Given the description of an element on the screen output the (x, y) to click on. 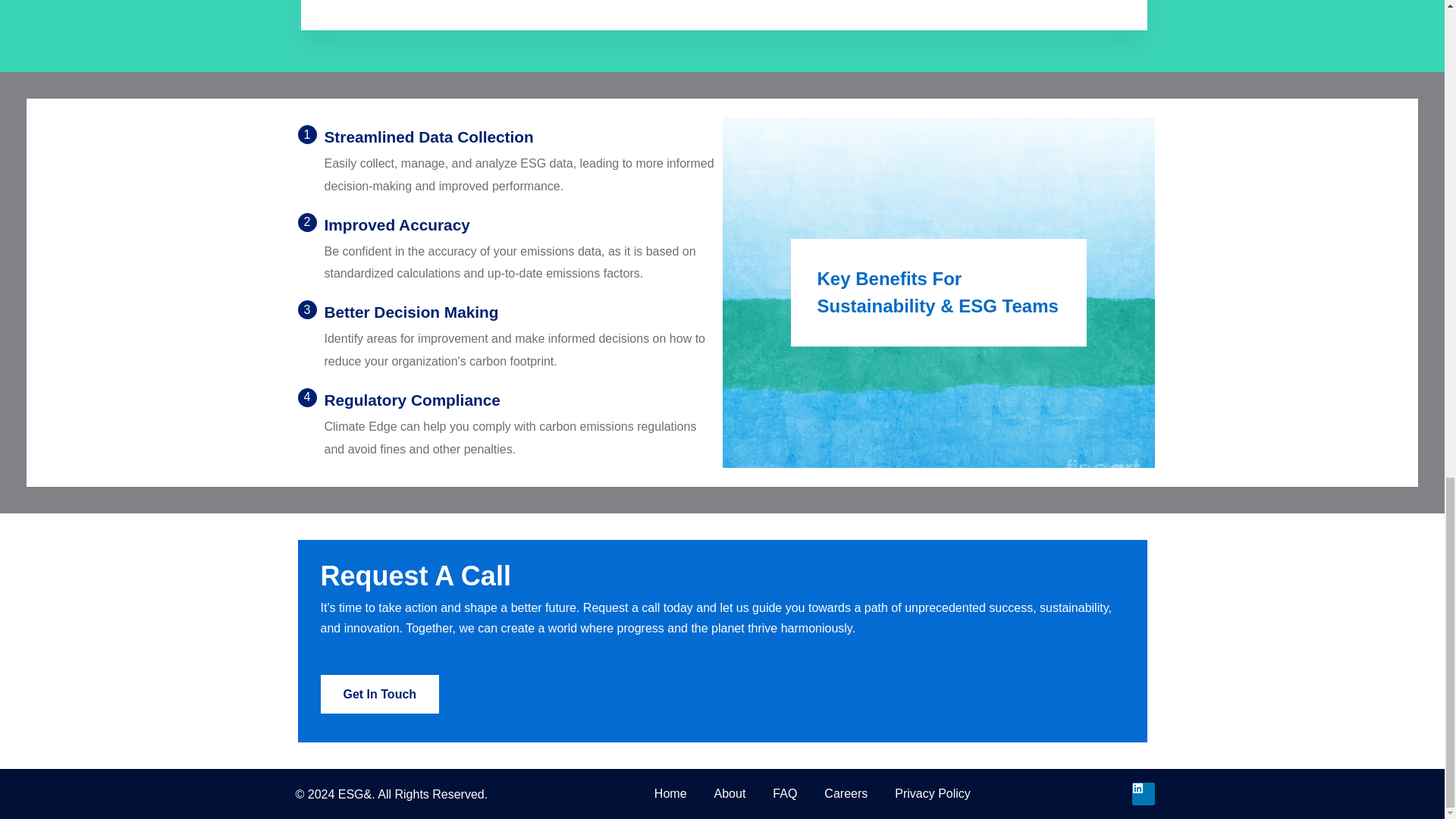
Careers (845, 793)
About (729, 793)
Get In Touch (379, 693)
Home (670, 793)
Linkedin (1142, 793)
Privacy Policy (932, 793)
